Given the description of an element on the screen output the (x, y) to click on. 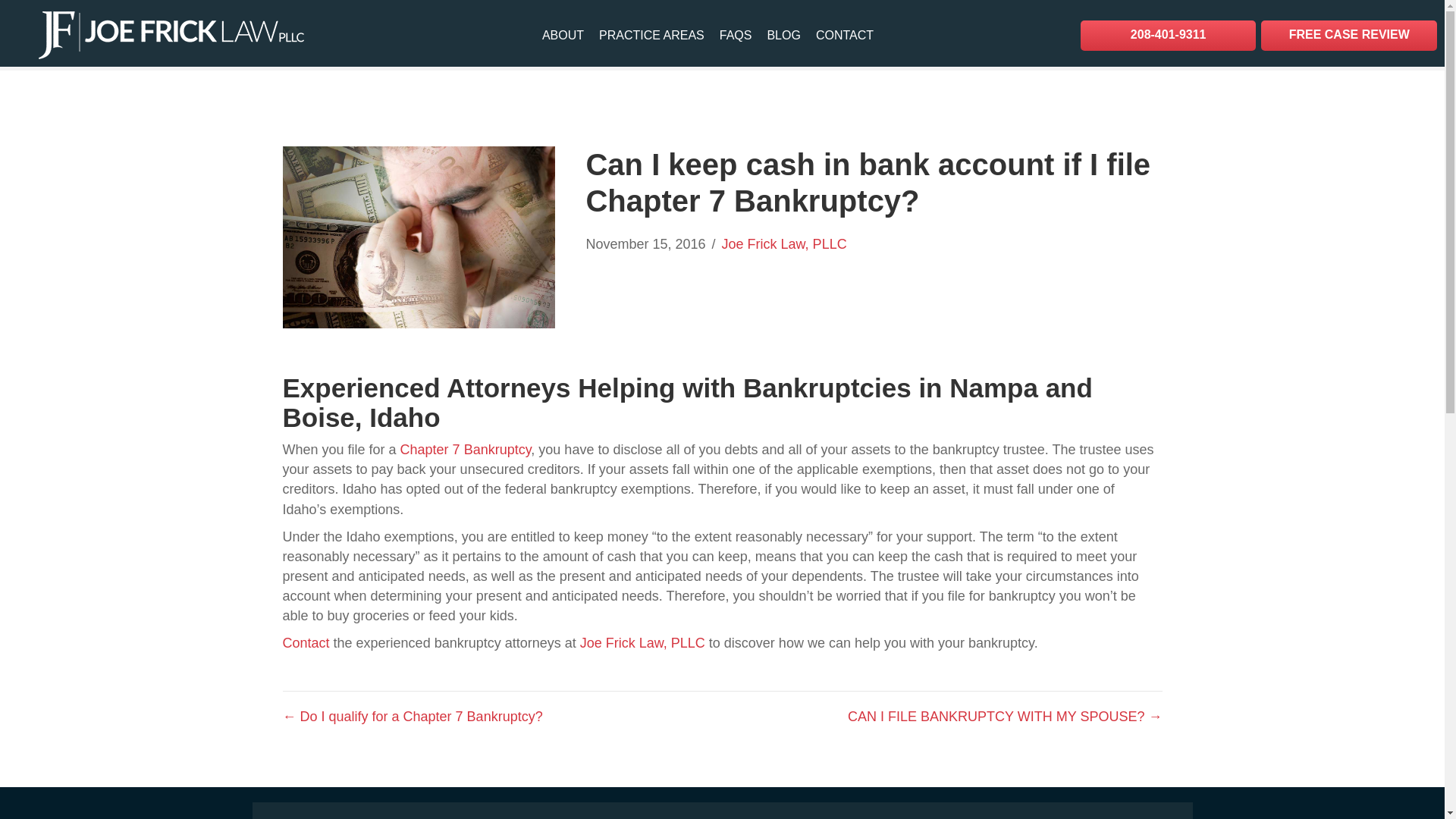
PRACTICE AREAS (651, 34)
frick-logo-white (171, 34)
ABOUT (562, 34)
FAQS (735, 34)
CONTACT (844, 34)
BLOG (783, 34)
208-401-9311 (1168, 35)
